Given the description of an element on the screen output the (x, y) to click on. 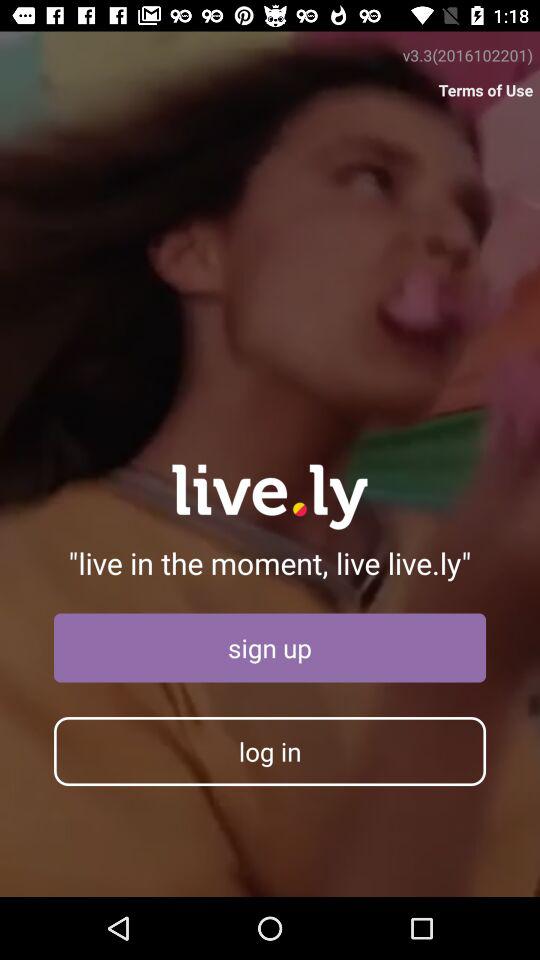
choose terms of use item (486, 89)
